Given the description of an element on the screen output the (x, y) to click on. 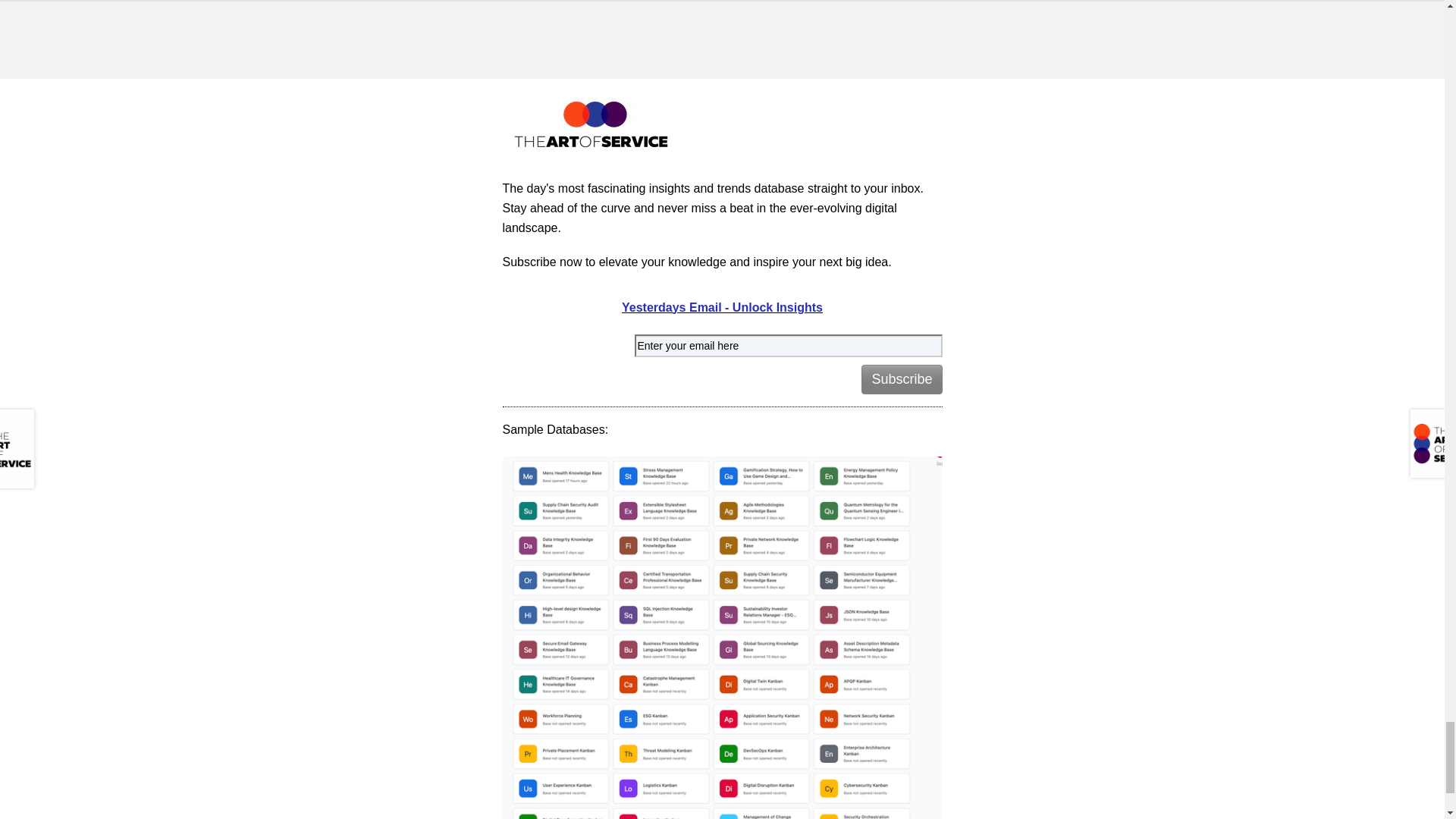
Enter your email here (787, 345)
Subscribe (901, 378)
